Given the description of an element on the screen output the (x, y) to click on. 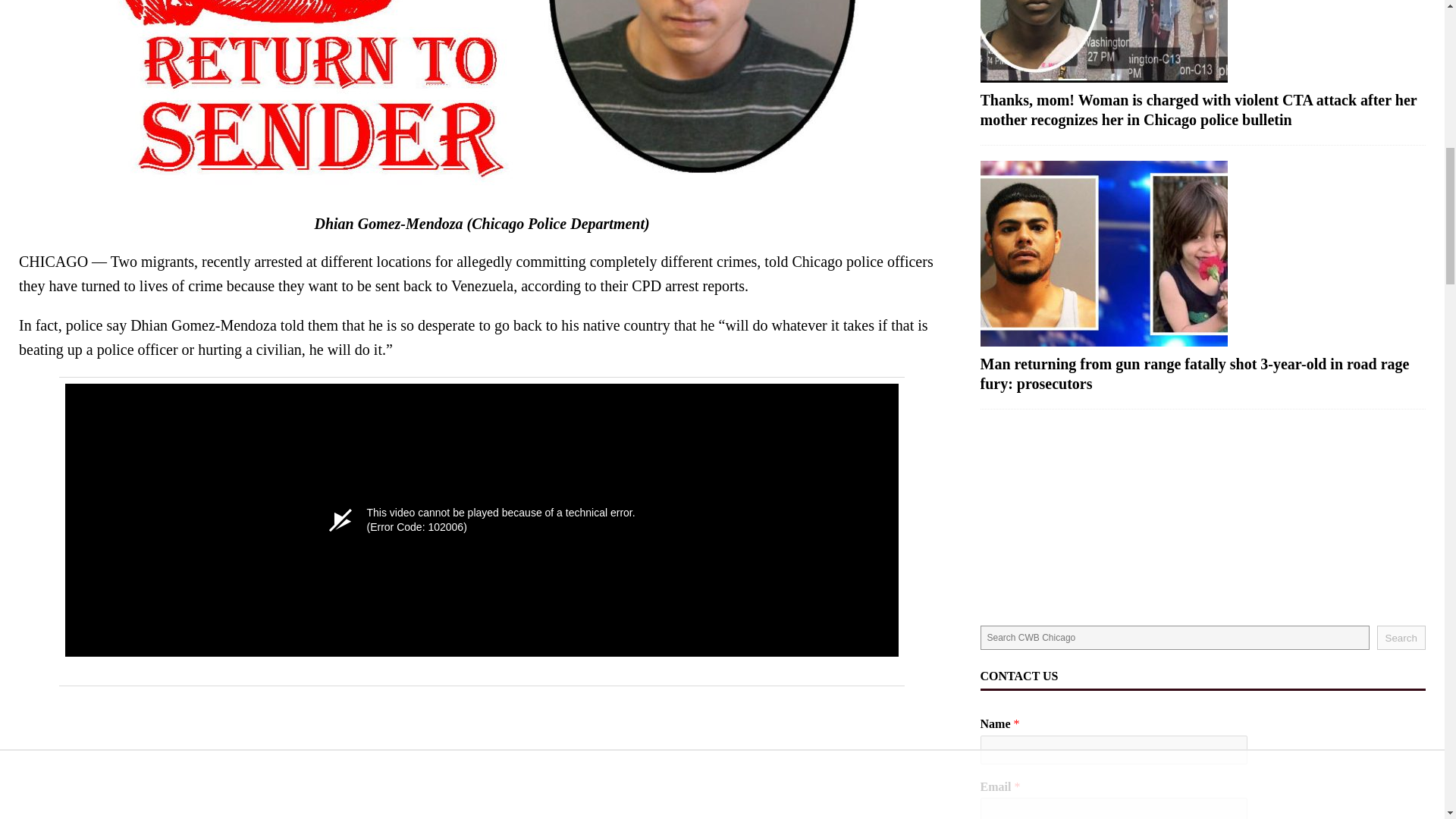
Search (1401, 637)
